Given the description of an element on the screen output the (x, y) to click on. 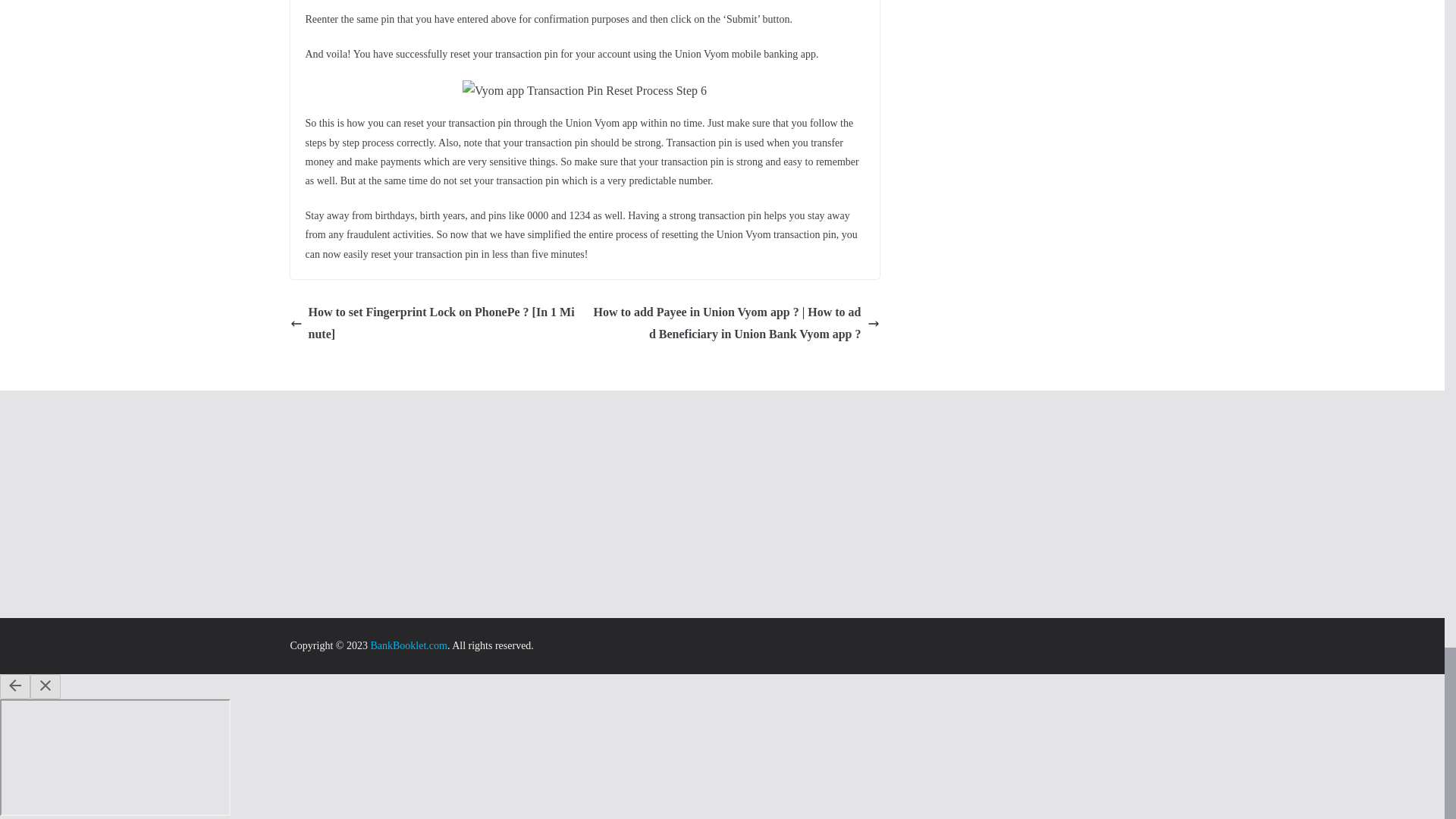
BankBooklet.com (407, 645)
BankBooklet.com (407, 645)
